Given the description of an element on the screen output the (x, y) to click on. 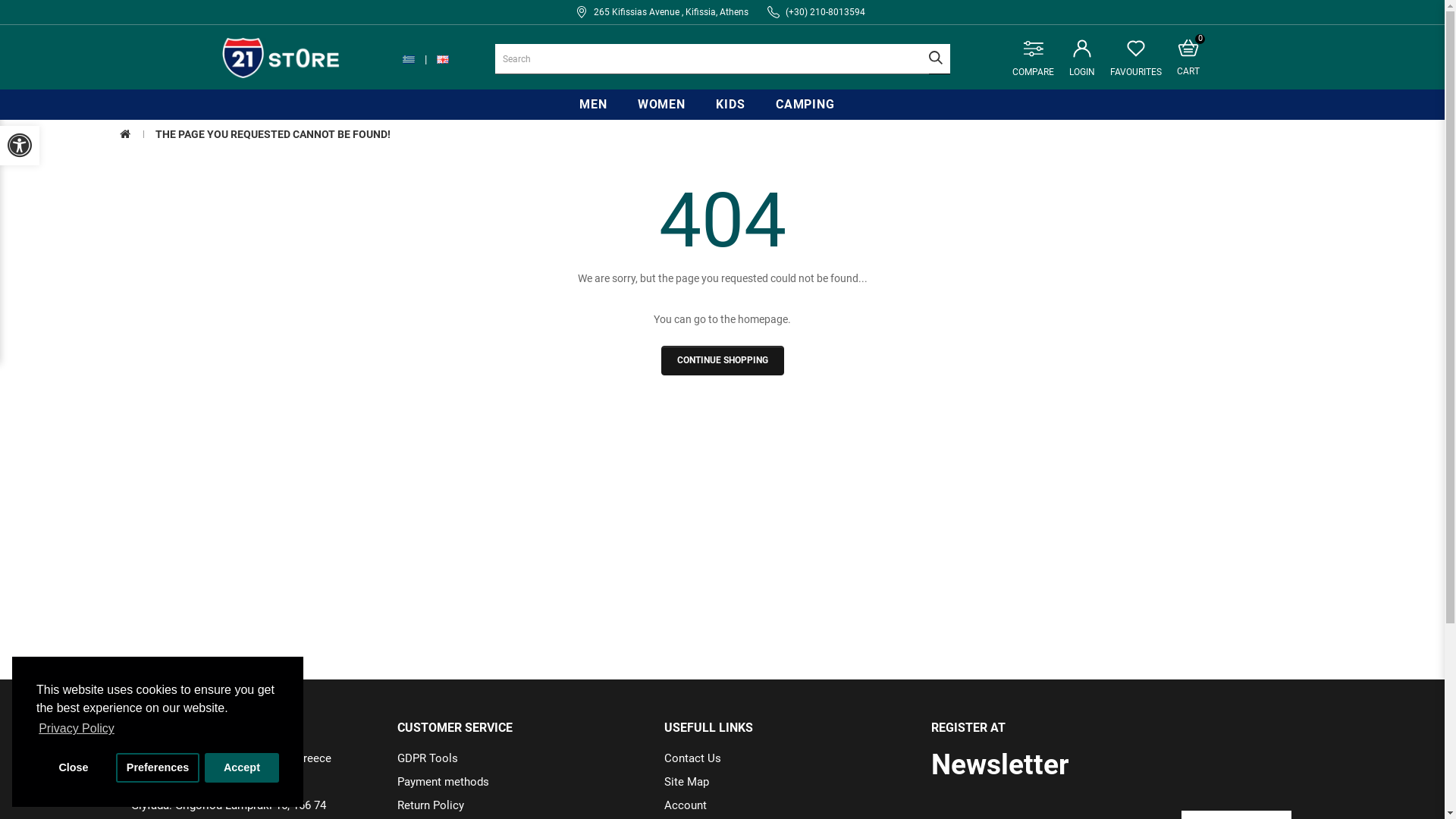
CAMPING Element type: text (805, 104)
ICON-CART
CART
0 Element type: text (1187, 58)
Preferences Element type: text (157, 767)
Close Element type: text (73, 767)
Accessibility Element type: text (19, 145)
English Element type: hover (442, 59)
Phone: (+30) 210 801 3594 Element type: text (245, 781)
LOGIN Element type: text (1082, 58)
THE PAGE YOU REQUESTED CANNOT BE FOUND! Element type: text (271, 134)
Accept Element type: text (241, 767)
KIDS Element type: text (730, 104)
COMPARE Element type: text (1033, 58)
265 Kifissias Avenue , Kifissia, Athens Element type: text (670, 11)
Payment methods Element type: text (443, 781)
GDPR Tools Element type: text (427, 757)
Search IconA magnifying glass icon. Element type: text (938, 58)
Site Map Element type: text (686, 781)
FAVOURITES Element type: text (1135, 58)
Contact Us Element type: text (692, 757)
MEN Element type: text (593, 104)
WOMEN Element type: text (661, 104)
CONTINUE SHOPPING Element type: text (722, 360)
Privacy Policy Element type: text (76, 728)
21st0re Element type: hover (279, 59)
Account Element type: text (685, 805)
(+30) 210-8013594 Element type: text (825, 11)
Return Policy Element type: text (430, 805)
